Given the description of an element on the screen output the (x, y) to click on. 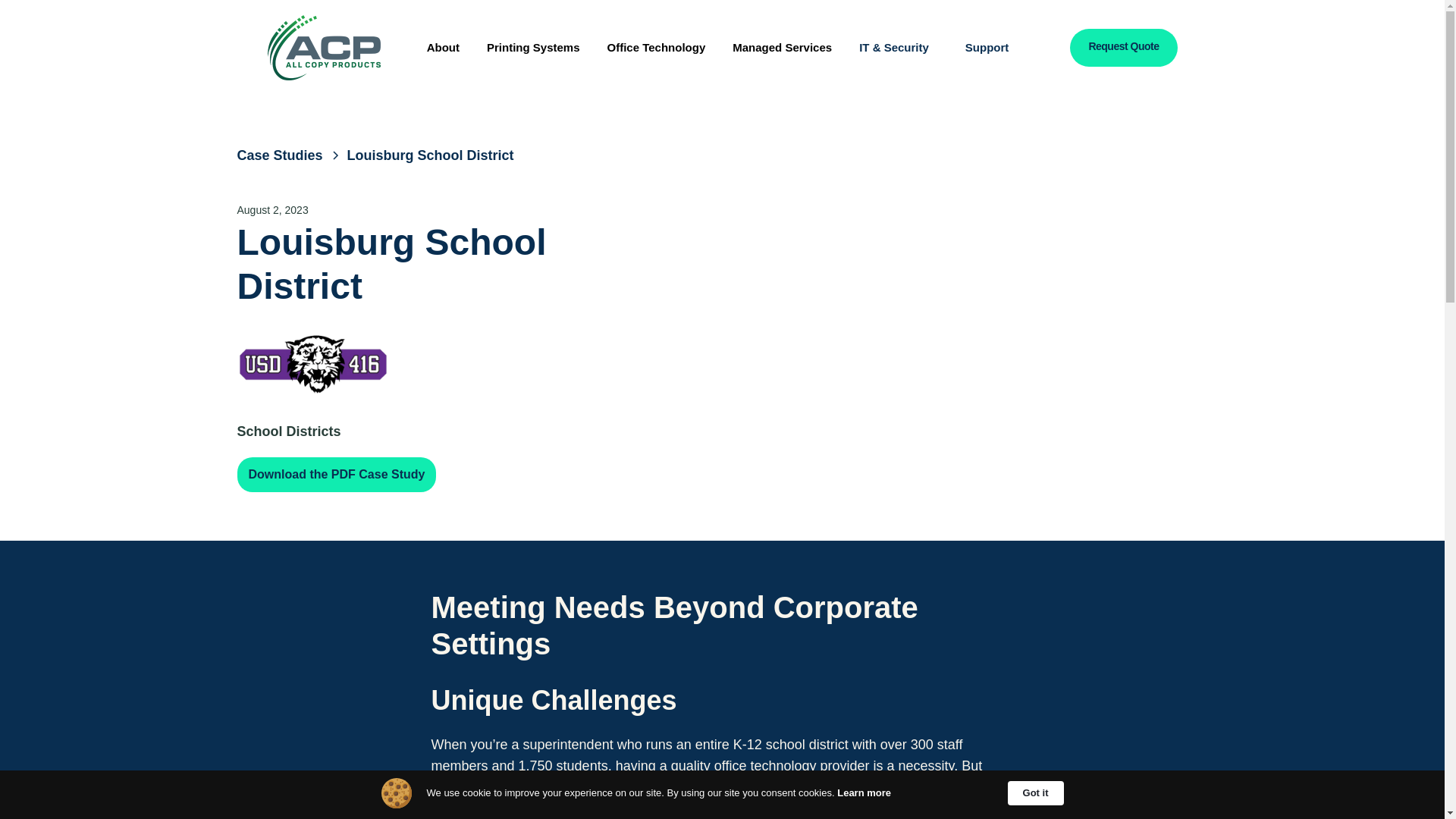
acp logo (323, 47)
Learn more (864, 793)
